Given the description of an element on the screen output the (x, y) to click on. 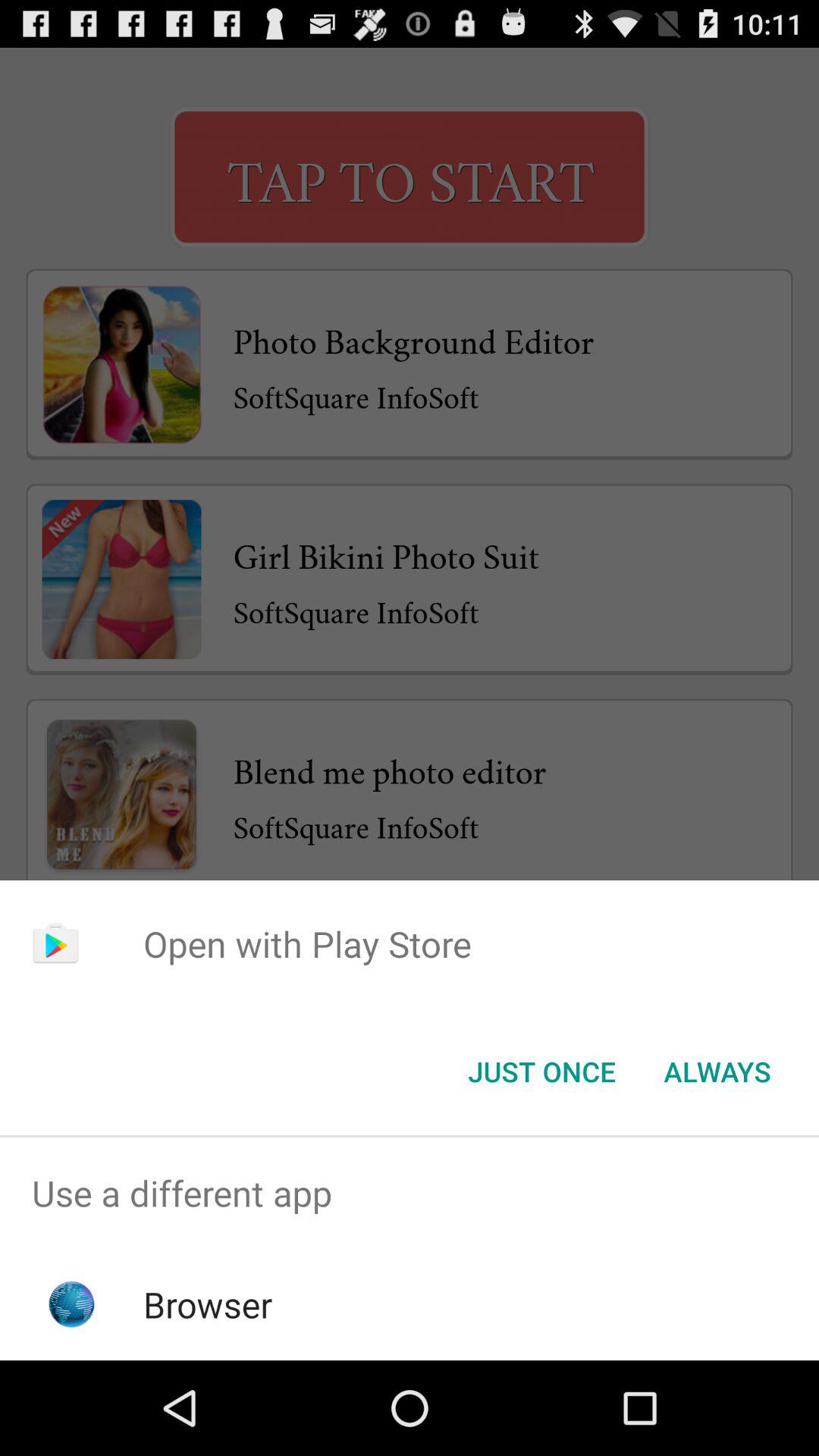
turn off always at the bottom right corner (717, 1071)
